Given the description of an element on the screen output the (x, y) to click on. 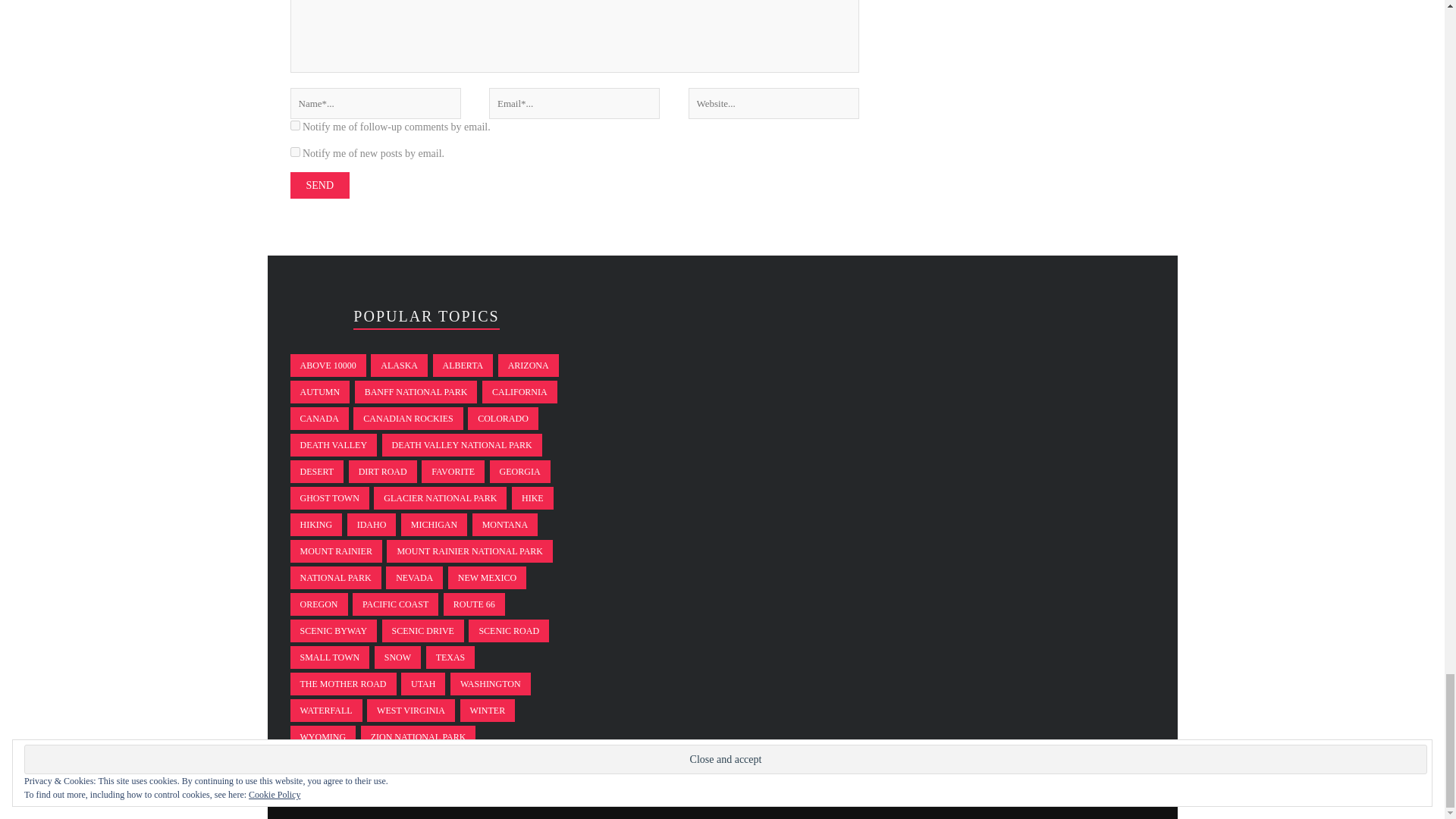
subscribe (294, 152)
subscribe (294, 125)
Send (319, 185)
